Given the description of an element on the screen output the (x, y) to click on. 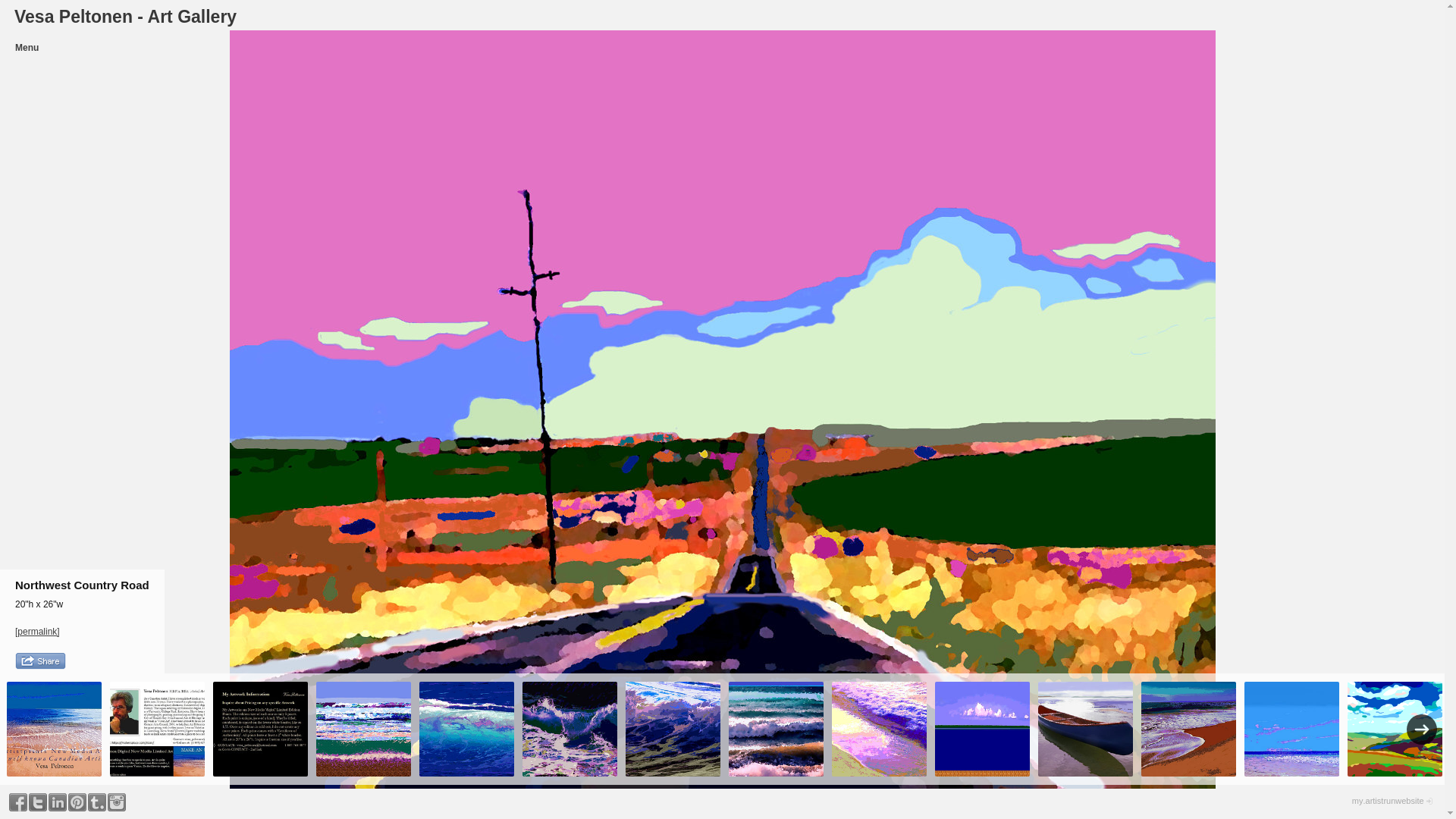
Rolling Countryside Element type: hover (1394, 728)
  Element type: text (57, 802)
MY Artwork Information: Prices/Contact Element type: hover (260, 728)
Artist -Vesa Peltonen Element type: hover (53, 728)
Beckoning Wave Element type: hover (672, 728)
my . artist run website Element type: text (1388, 800)
Deep Blue Wave [Onto Cuban Beach] Element type: hover (466, 728)
Lake Superior Wave Element type: hover (569, 728)
  Element type: text (77, 802)
Follow me on Instagram Element type: hover (116, 802)
My Oasis in Troubled Times' Element type: hover (1085, 728)
Wave Upon Waves Element type: hover (363, 728)
Sunset Waves Element type: hover (878, 728)
  Element type: text (37, 802)
Distant Islet  Element type: hover (982, 728)
Calm Waves on Shore Element type: hover (1188, 728)
Follow me on Linkedin Element type: hover (57, 802)
 Metamorphosing Waves Element type: hover (775, 728)
  Element type: text (116, 802)
[permalink] Element type: text (37, 631)
  Element type: text (18, 802)
  Element type: text (96, 802)
Tranquility Mindset Element type: hover (1291, 728)
Follow me on Facebook Element type: hover (18, 802)
Follow me on Tumblr Element type: hover (96, 802)
My artprints Profile pg Element type: hover (157, 728)
Follow me on Pinterest Element type: hover (77, 802)
Follow me on Twitter Element type: hover (37, 802)
